Given the description of an element on the screen output the (x, y) to click on. 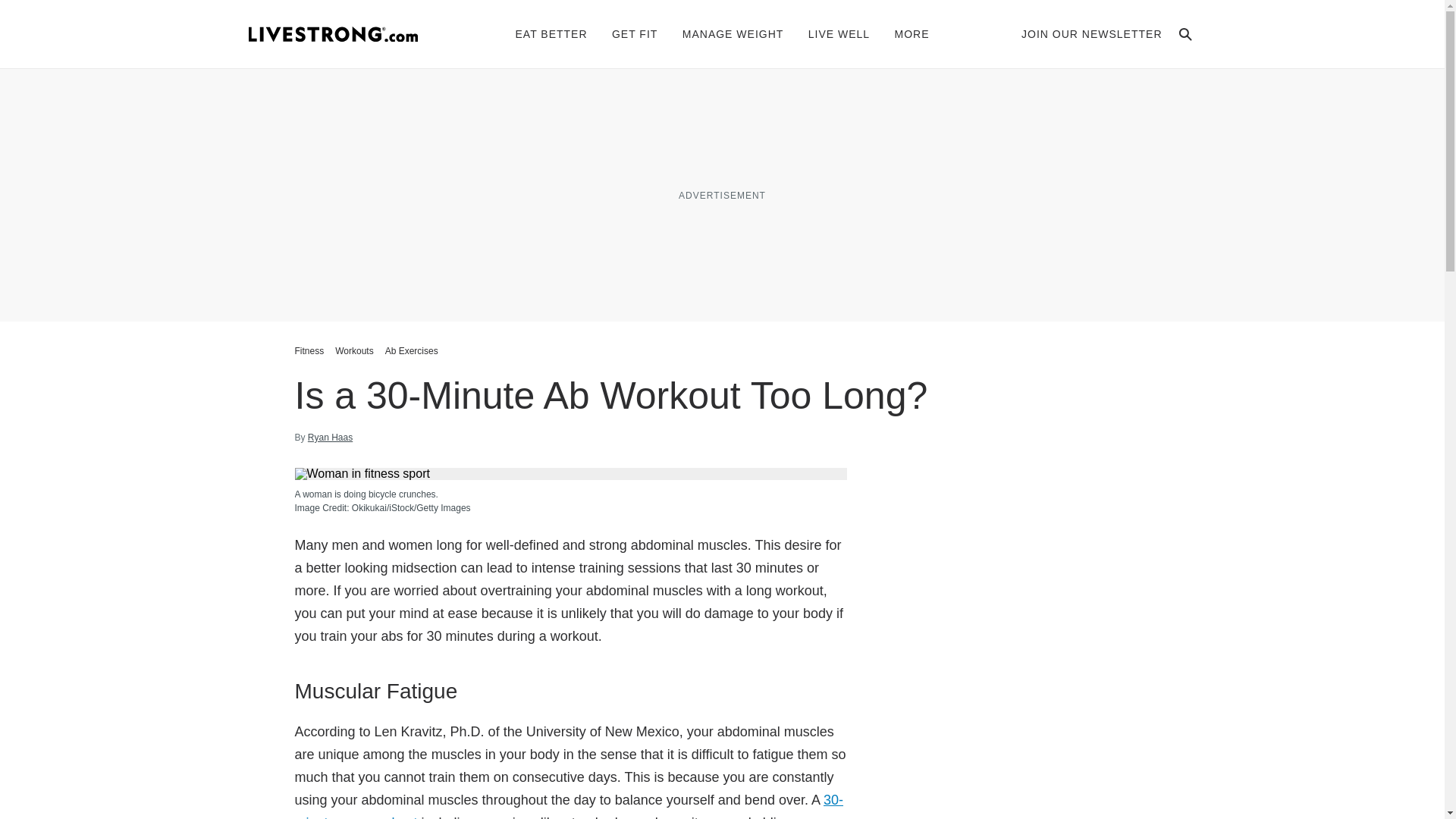
JOIN OUR NEWSLETTER (1091, 33)
Fitness (310, 350)
EAT BETTER (551, 33)
Workouts (354, 350)
GET FIT (634, 33)
LIVE WELL (838, 33)
30-minute core workout (568, 805)
Ab Exercises (411, 350)
MANAGE WEIGHT (733, 33)
Ryan Haas (329, 437)
